Given the description of an element on the screen output the (x, y) to click on. 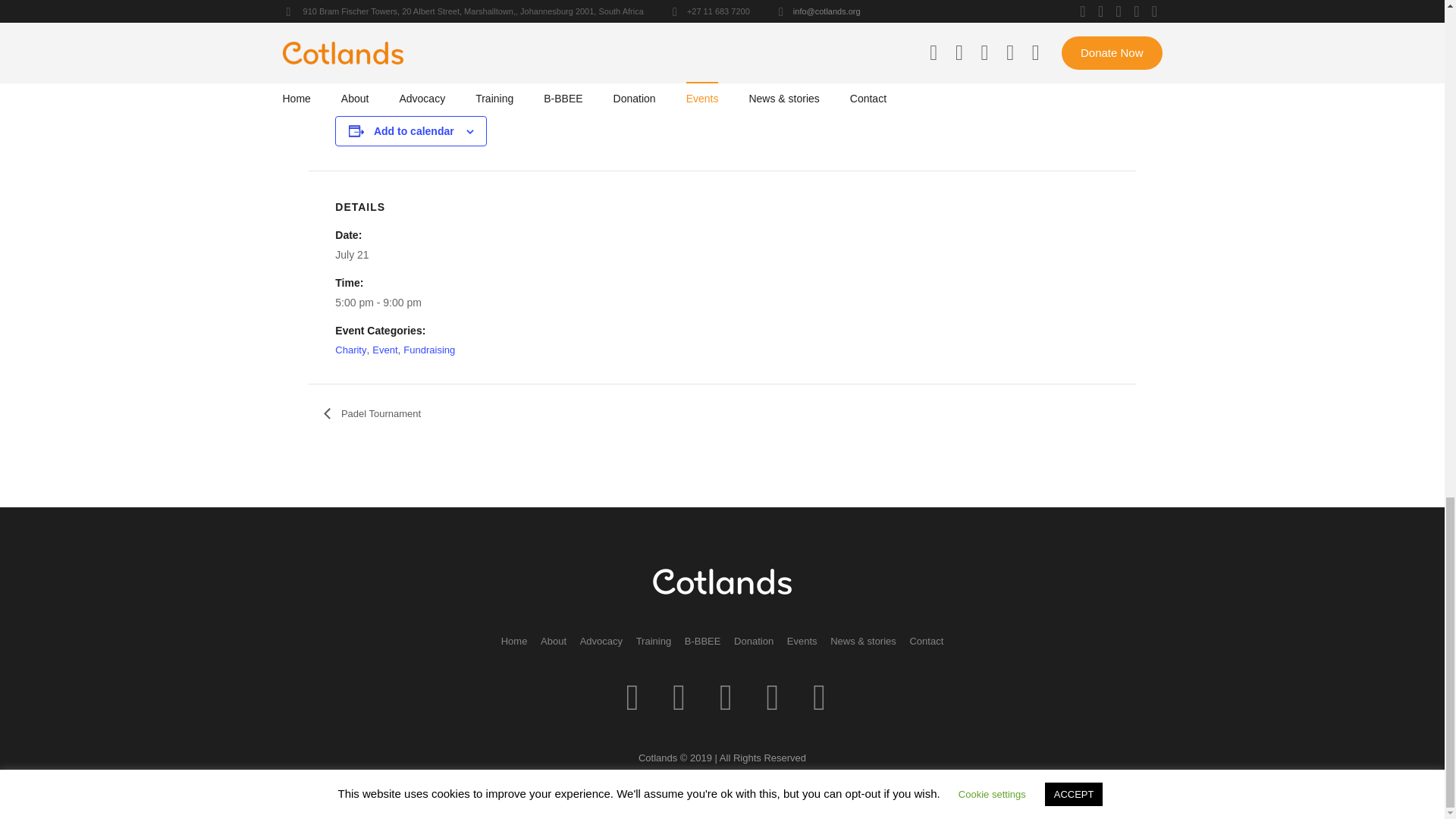
2024-07-21 (351, 254)
